Given the description of an element on the screen output the (x, y) to click on. 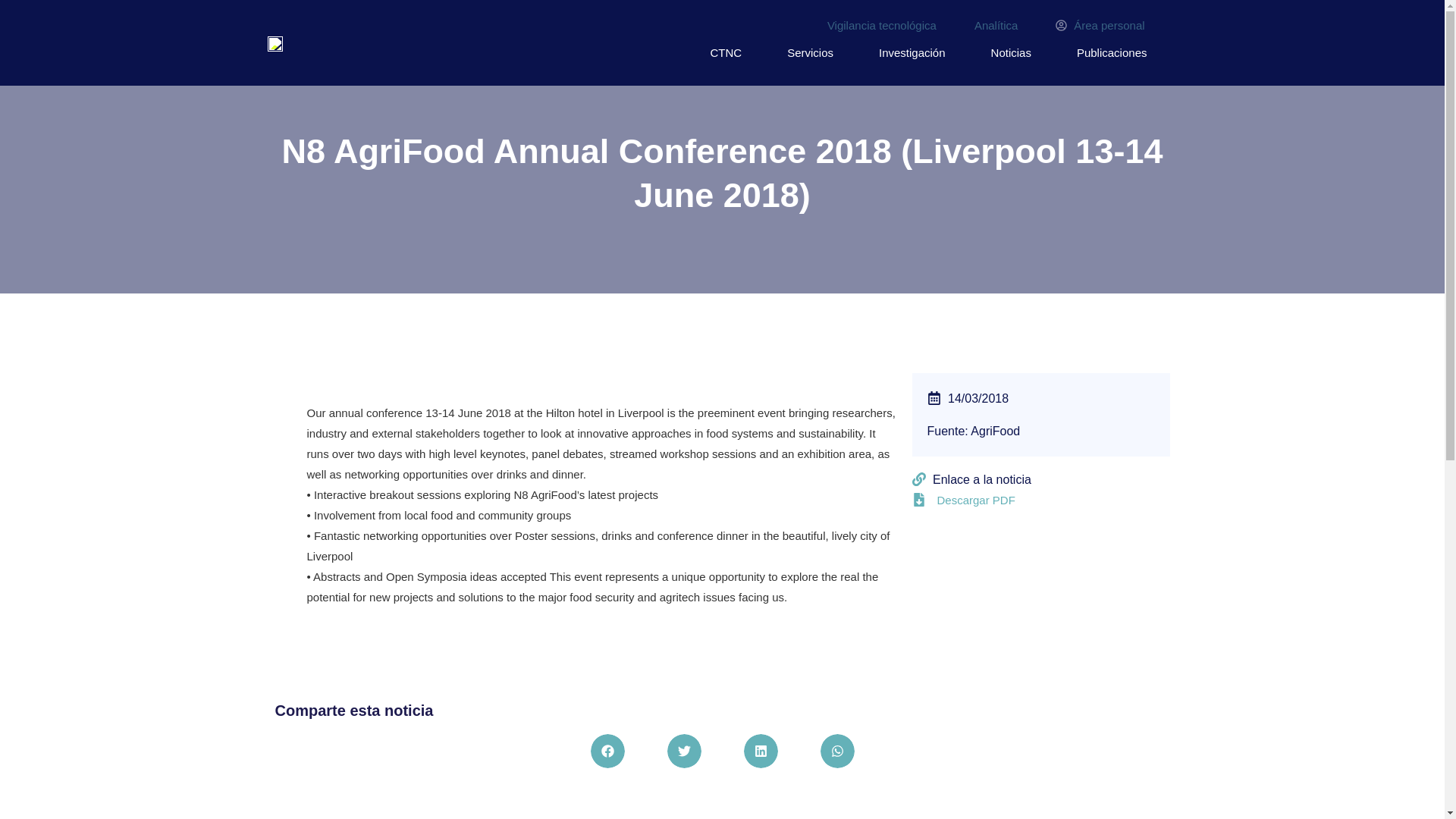
Publicaciones (1112, 53)
Noticias (1011, 53)
Servicios (810, 53)
CTNC (725, 53)
